Given the description of an element on the screen output the (x, y) to click on. 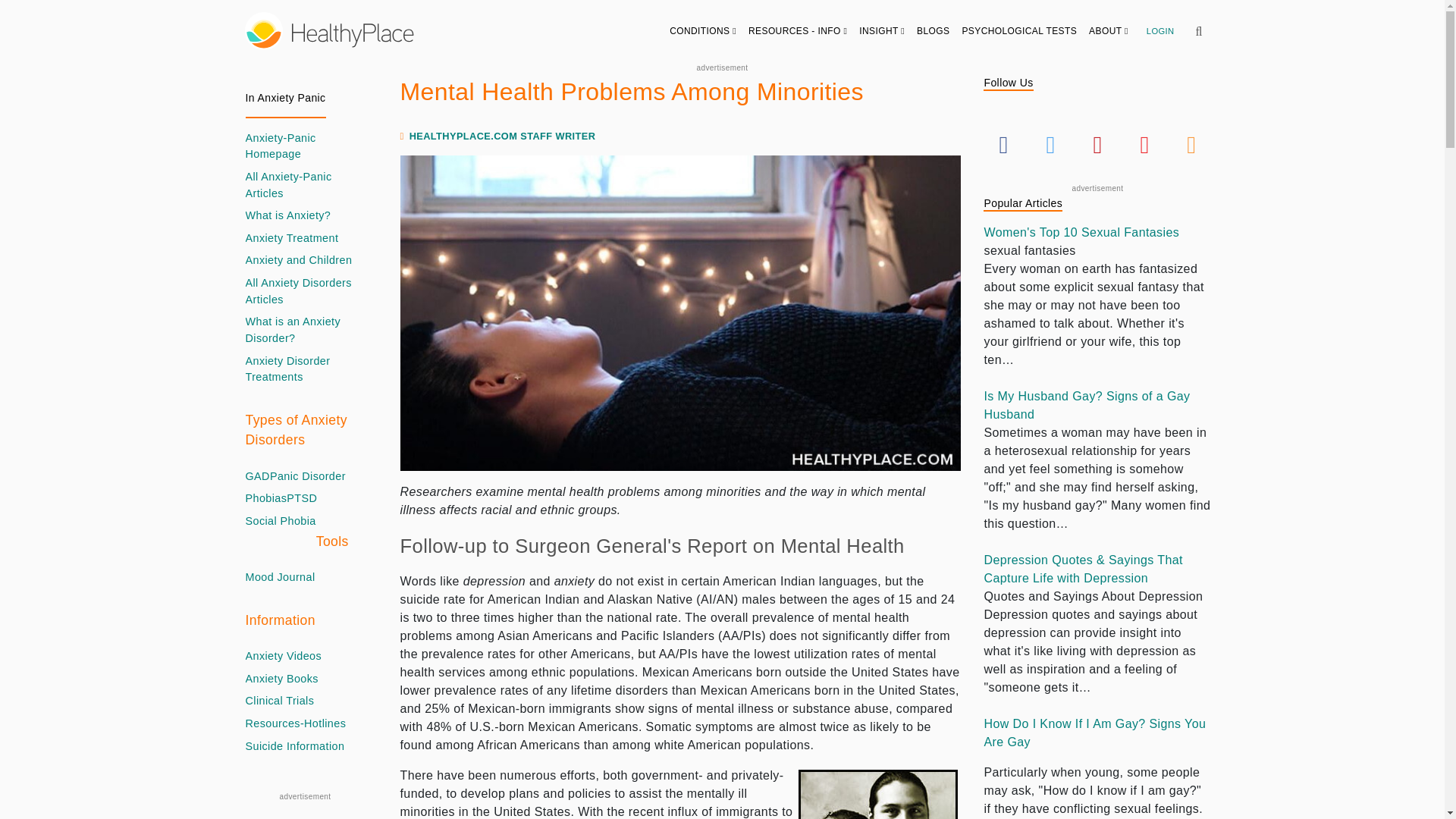
CONDITIONS (702, 31)
INSIGHT (882, 31)
RESOURCES - INFO (797, 31)
